Given the description of an element on the screen output the (x, y) to click on. 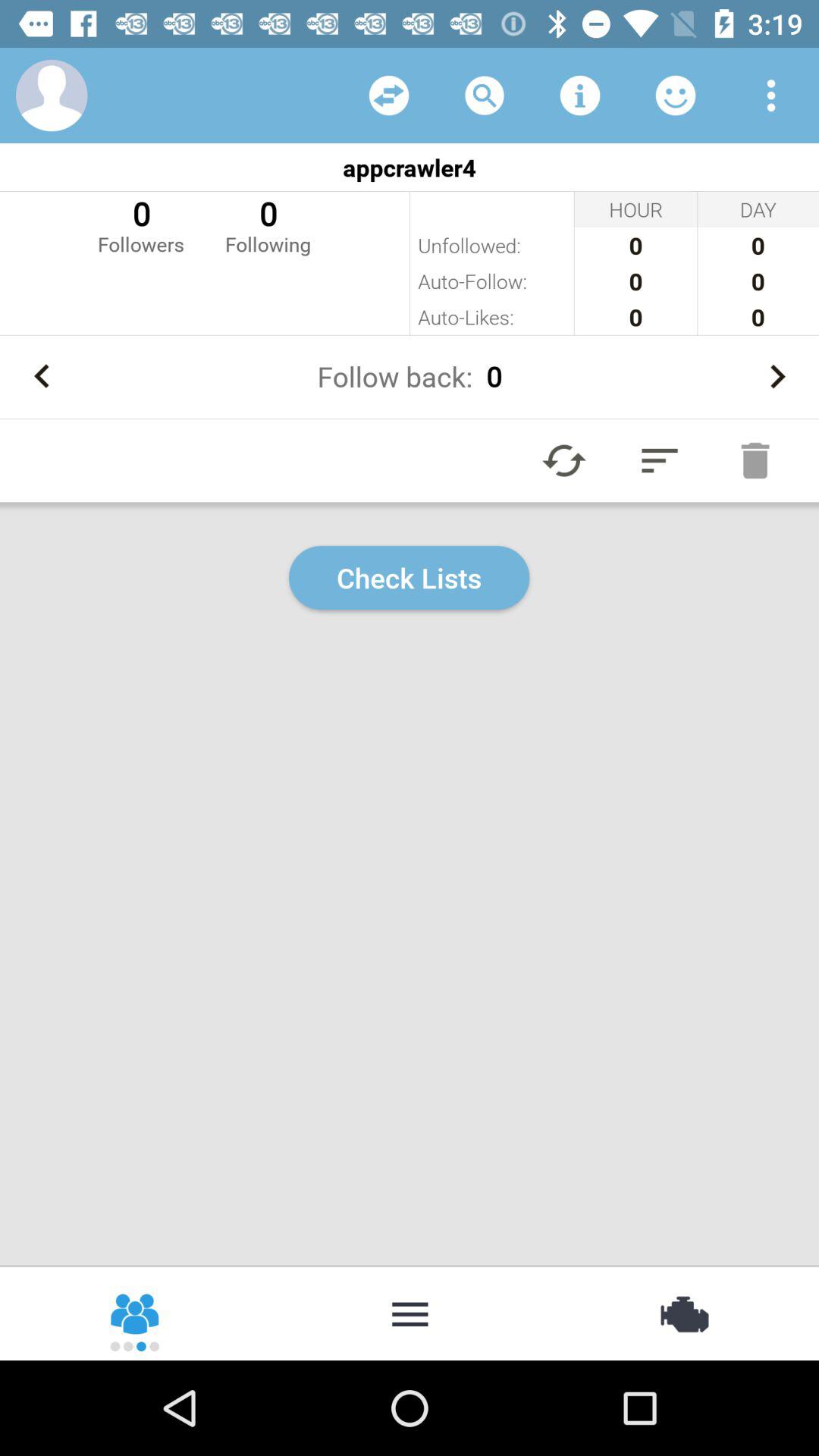
transfer information (388, 95)
